Given the description of an element on the screen output the (x, y) to click on. 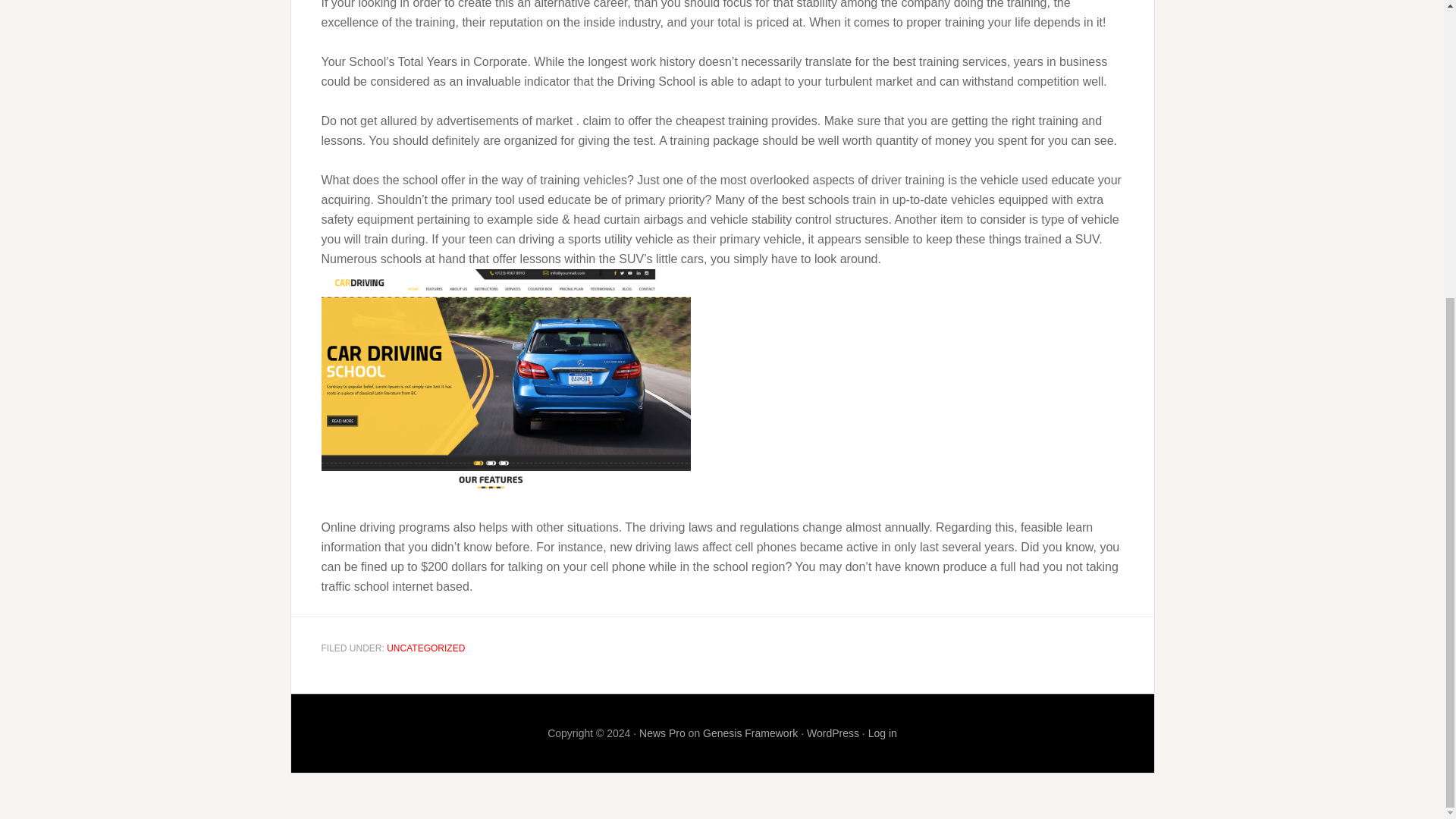
UNCATEGORIZED (425, 647)
WordPress (832, 733)
Log in (881, 733)
Genesis Framework (750, 733)
News Pro (662, 733)
